Given the description of an element on the screen output the (x, y) to click on. 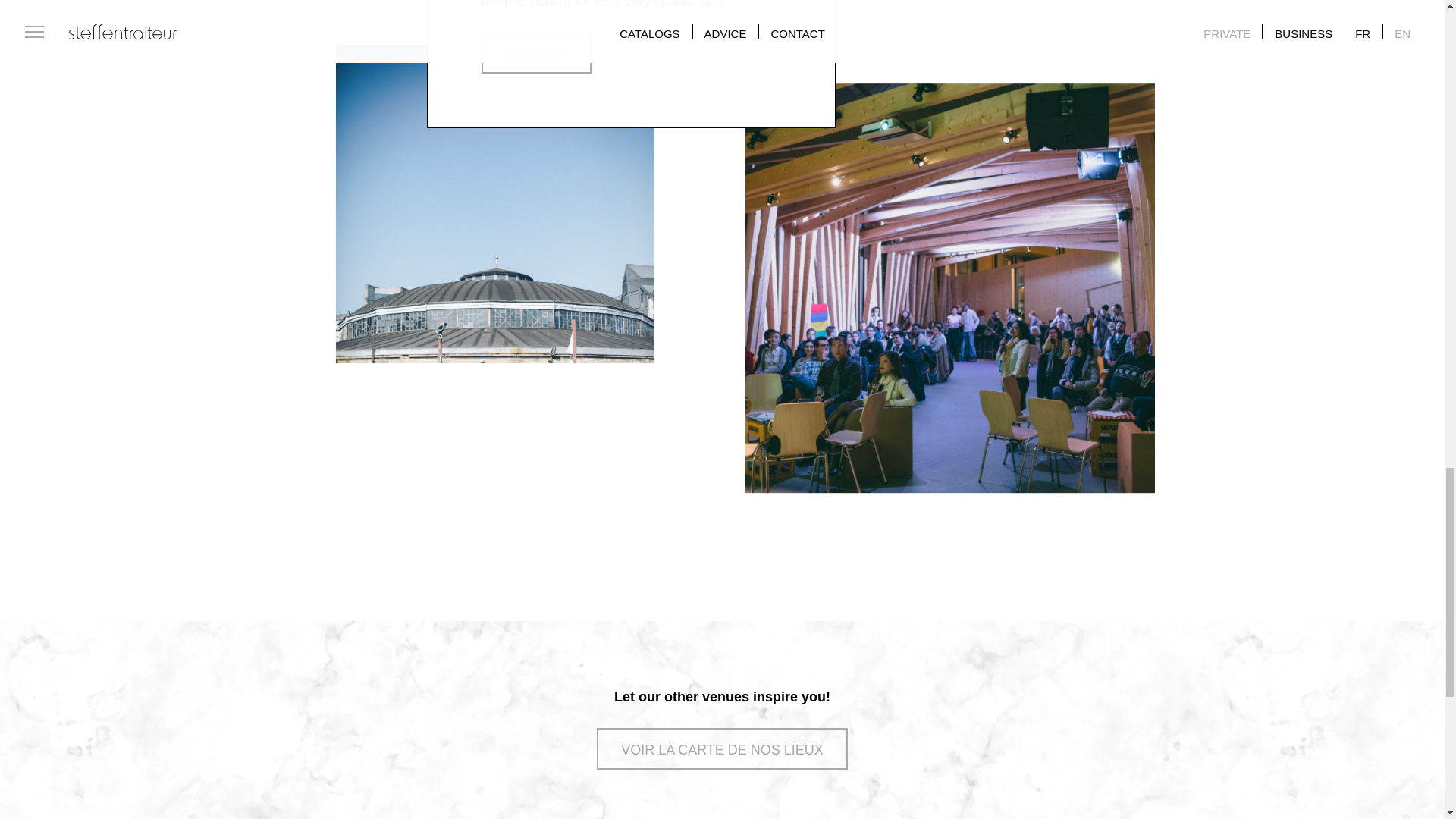
VOIR LA CARTE DE NOS LIEUX (721, 748)
WEBSITE (535, 52)
